Given the description of an element on the screen output the (x, y) to click on. 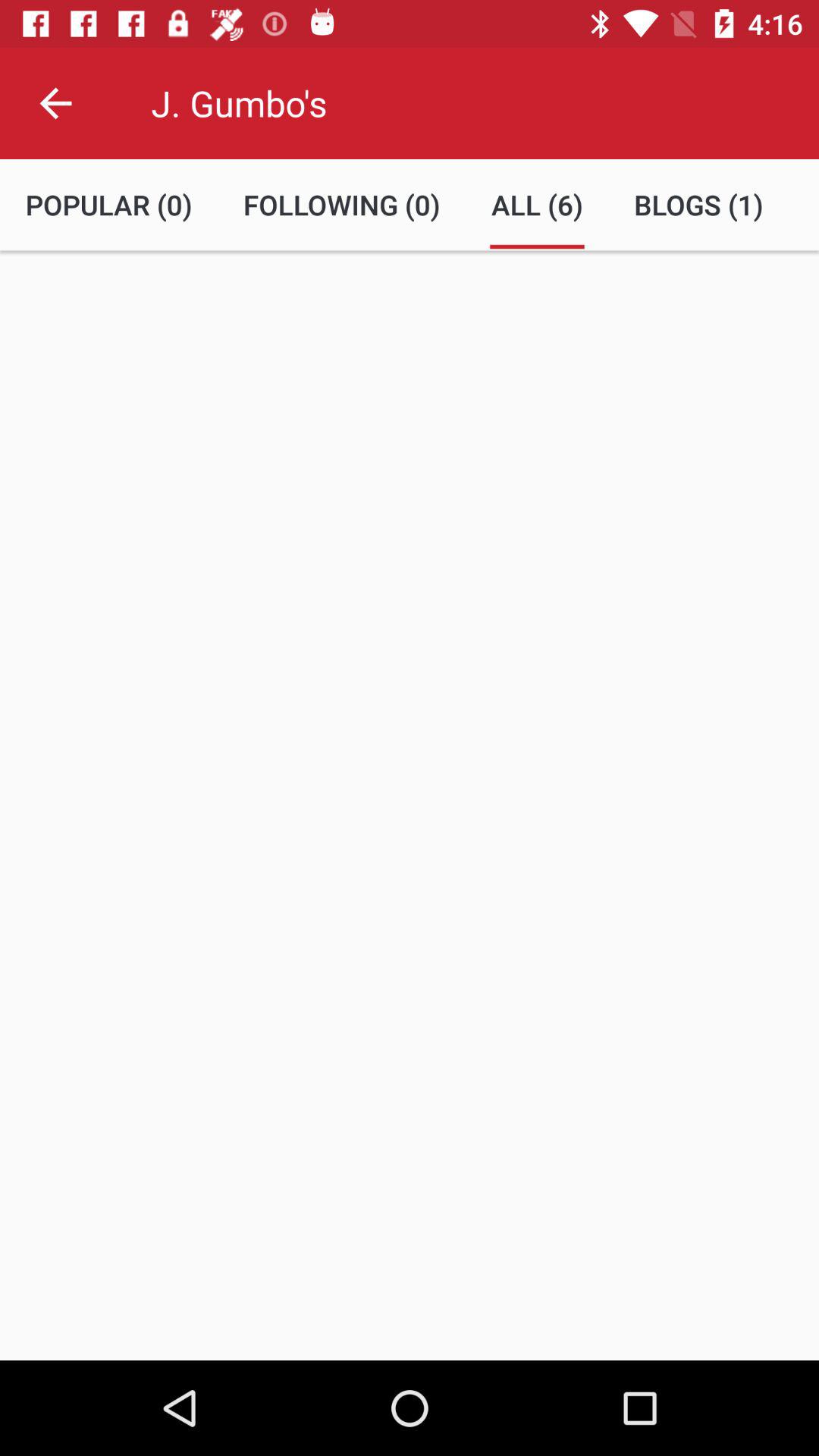
flip to the following (0) item (341, 204)
